Given the description of an element on the screen output the (x, y) to click on. 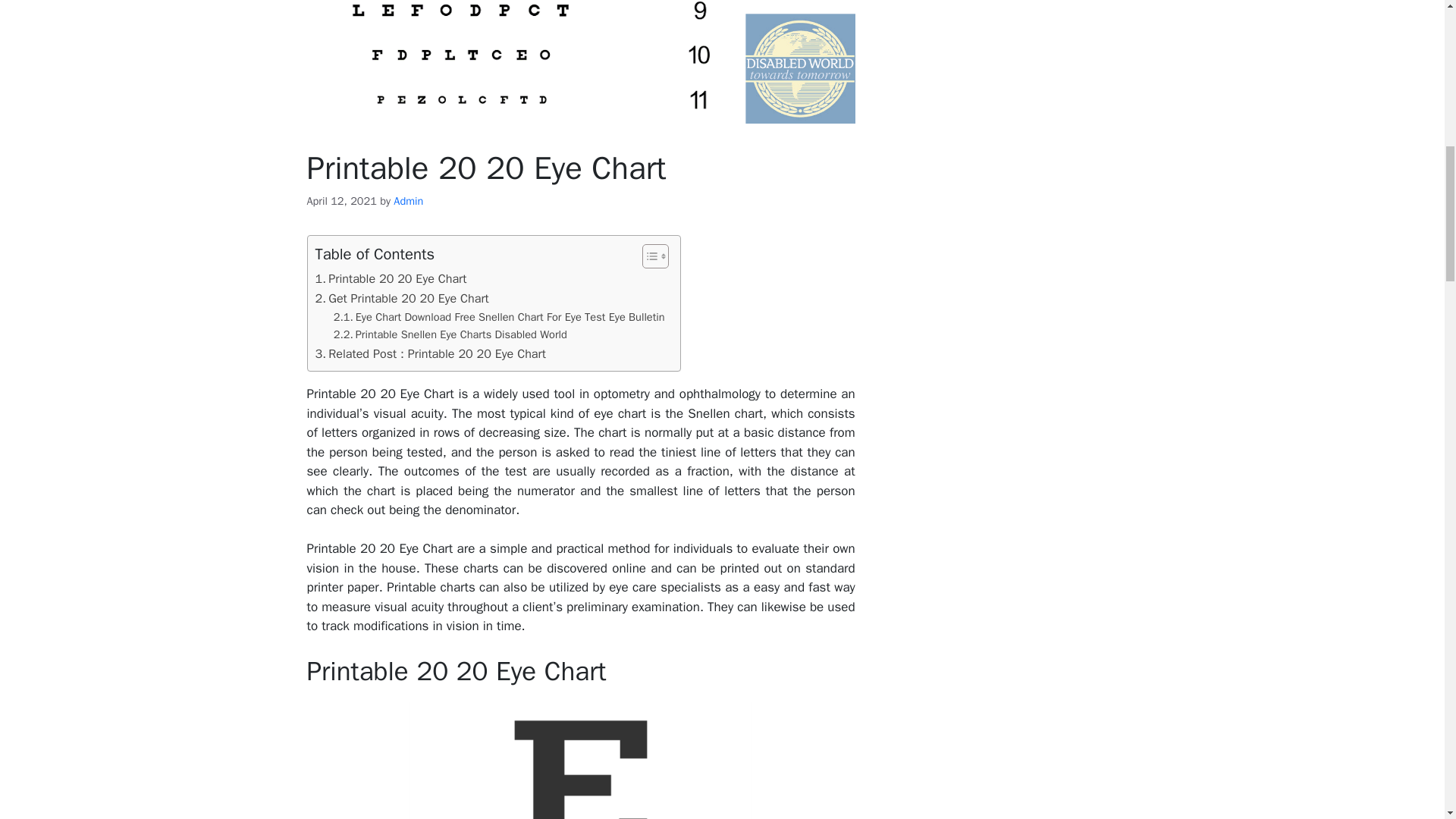
Printable Snellen Eye Charts Disabled World (450, 334)
Printable 20 20 Eye Chart (580, 760)
Printable 20 20 Eye Chart (391, 279)
Related Post : Printable 20 20 Eye Chart (430, 353)
Printable 20 20 Eye Chart (391, 279)
Admin (408, 201)
Get Printable 20 20 Eye Chart (402, 298)
Get Printable 20 20 Eye Chart (402, 298)
Related Post : Printable 20 20 Eye Chart (430, 353)
View all posts by Admin (408, 201)
Printable Snellen Eye Charts Disabled World (450, 334)
